Given the description of an element on the screen output the (x, y) to click on. 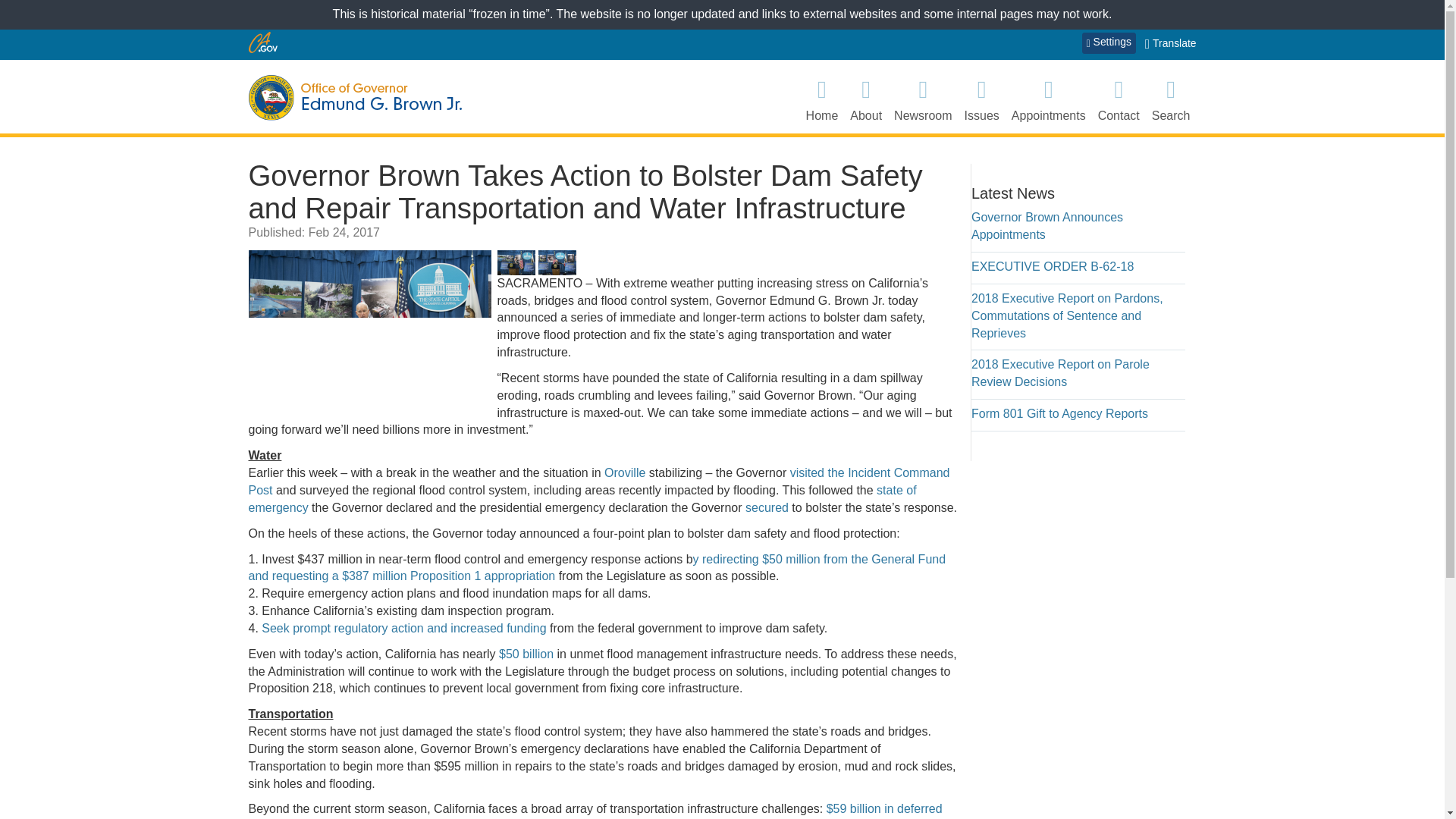
Translate (1170, 44)
state of emergency (582, 499)
secured (767, 507)
Appointments (1048, 98)
Settings (1108, 43)
visited the Incident Command Post (599, 481)
CA.gov (263, 43)
Oroville (624, 472)
